Given the description of an element on the screen output the (x, y) to click on. 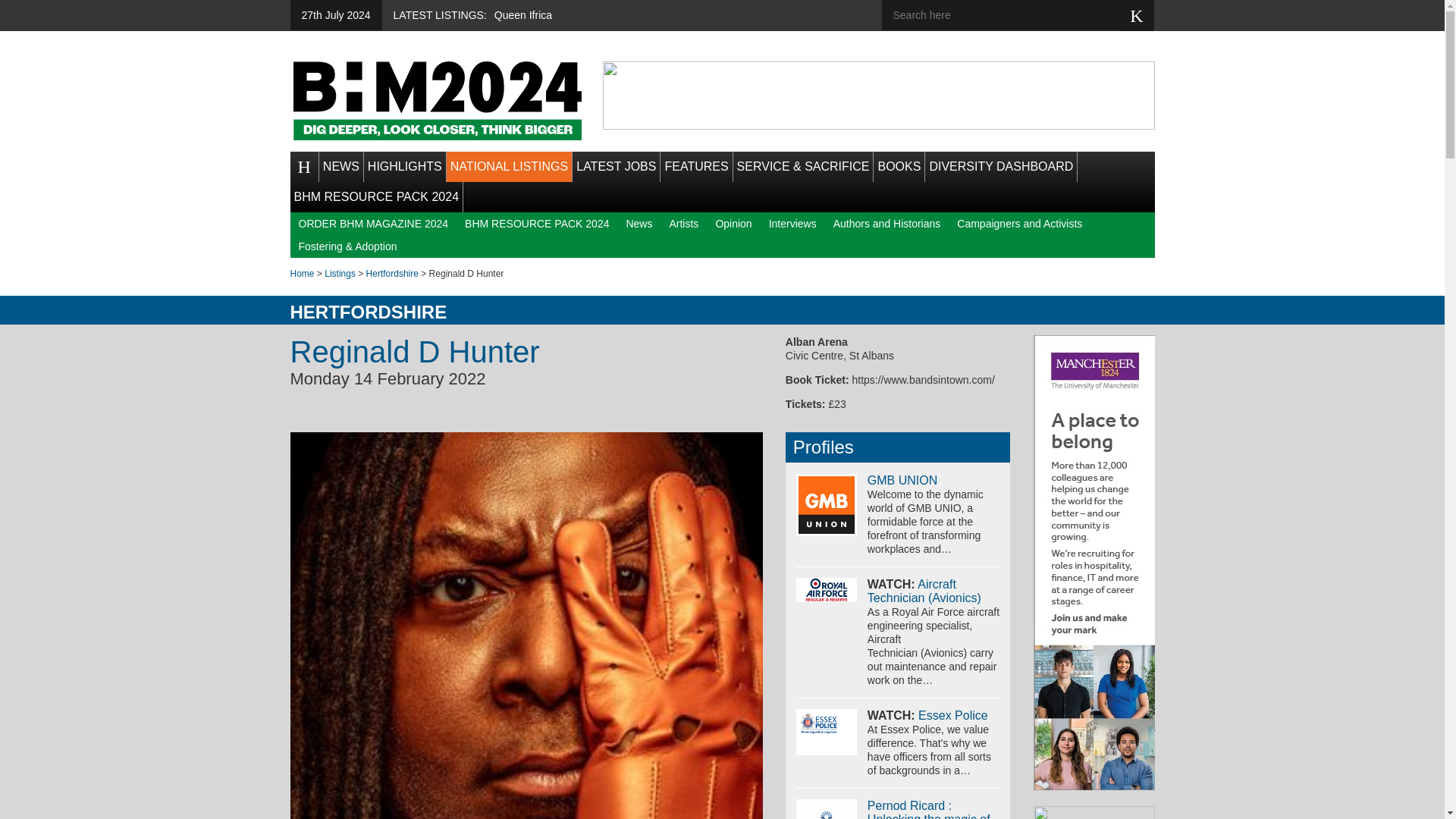
GMB UNION (902, 480)
Queen Ifrica (523, 15)
Essex Police (826, 731)
GMB UNION (826, 505)
Black History Month 2024: Black History Month 2024 (437, 100)
Search here (1010, 15)
Pernod Ricard : Unlocking the magic of human connection (928, 809)
Pernod Ricard : Unlocking the magic of human connection (826, 809)
Essex Police (953, 715)
